Given the description of an element on the screen output the (x, y) to click on. 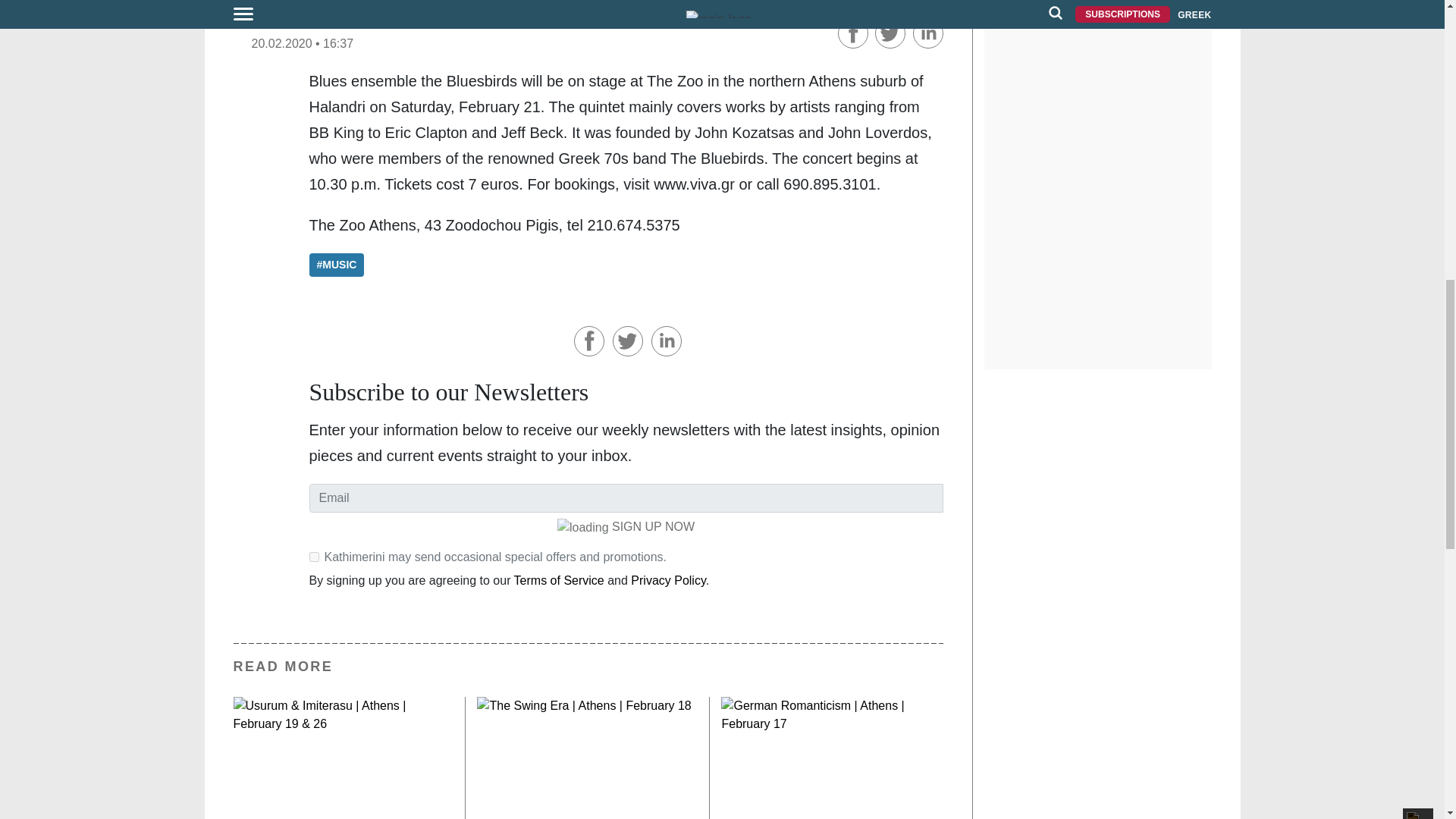
View all posts by Newsroom (287, 22)
on (313, 556)
